Given the description of an element on the screen output the (x, y) to click on. 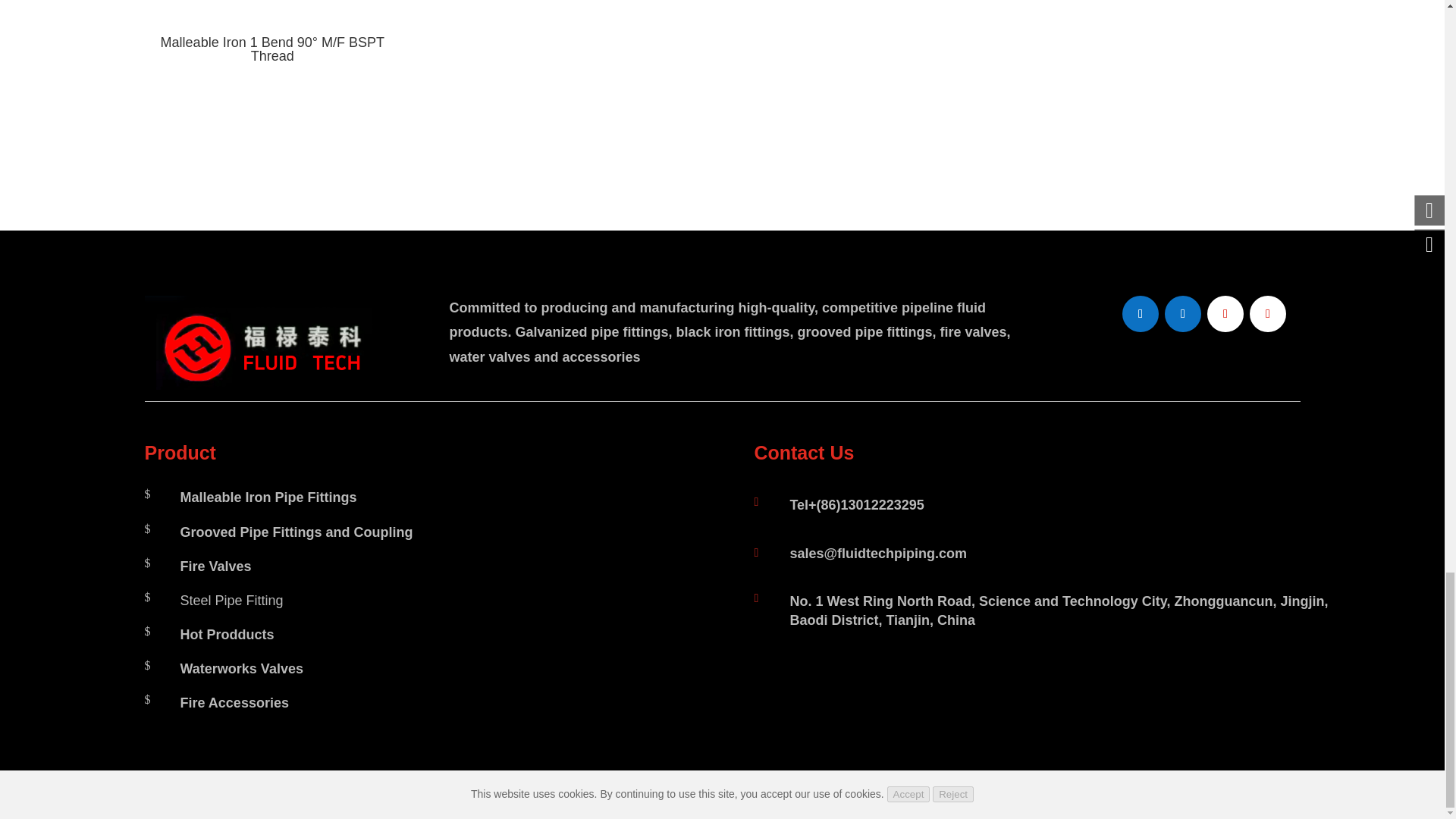
Follow on LinkedIn (1182, 313)
Follow on Facebook (1140, 313)
Fluid Tech Group (264, 342)
Follow on Instagram (1267, 313)
Follow on Youtube (1225, 313)
